Given the description of an element on the screen output the (x, y) to click on. 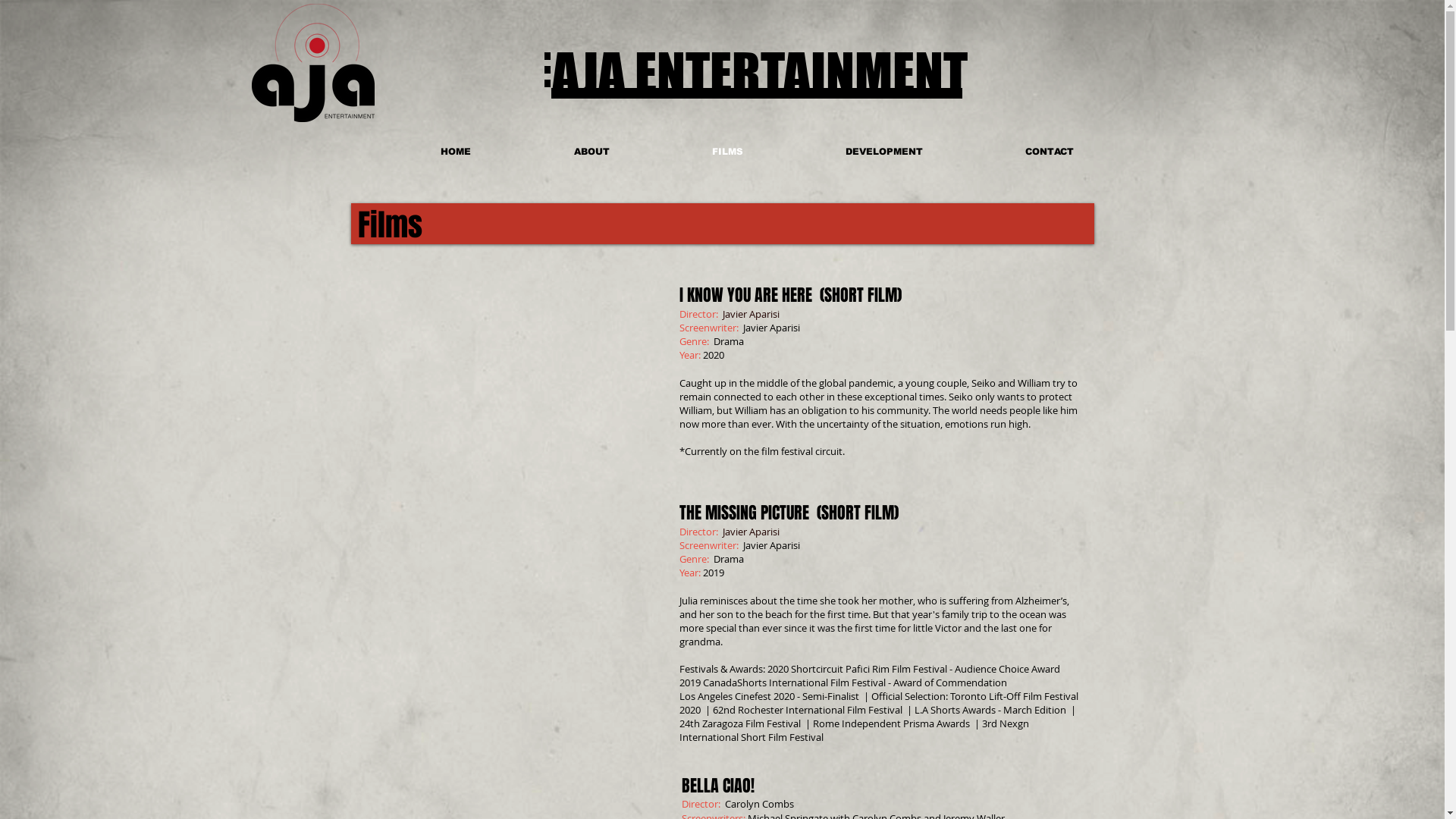
DEVELOPMENT Element type: text (884, 151)
ABOUT Element type: text (590, 151)
FILMS Element type: text (727, 151)
CONTACT Element type: text (1048, 151)
External Vimeo Element type: hover (509, 578)
HOME Element type: text (454, 151)
External Vimeo Element type: hover (509, 368)
AJA ENTERTAINMENT Element type: text (759, 72)
